Given the description of an element on the screen output the (x, y) to click on. 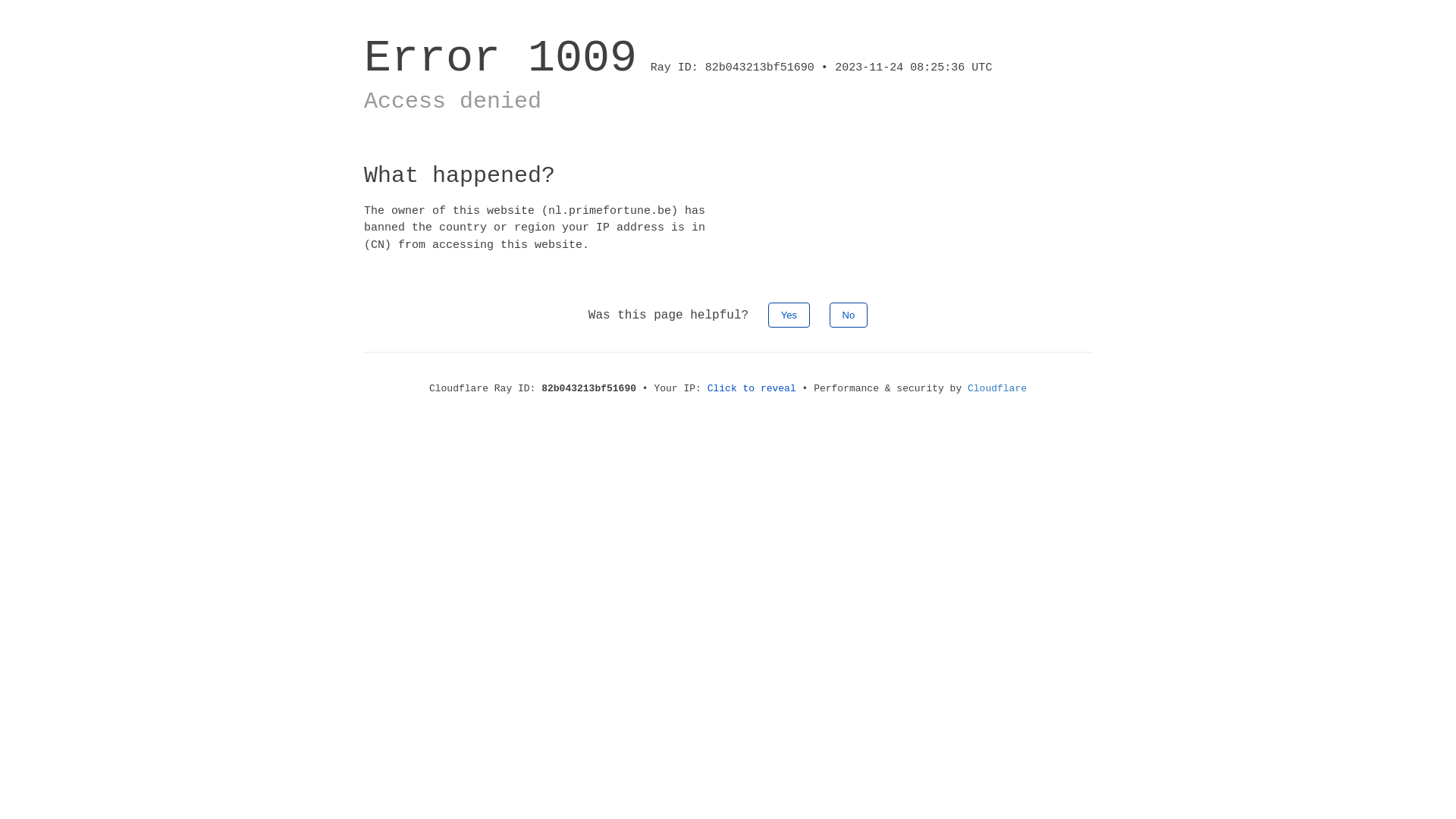
Click to reveal Element type: text (751, 388)
Yes Element type: text (788, 314)
No Element type: text (848, 314)
Cloudflare Element type: text (996, 388)
